Given the description of an element on the screen output the (x, y) to click on. 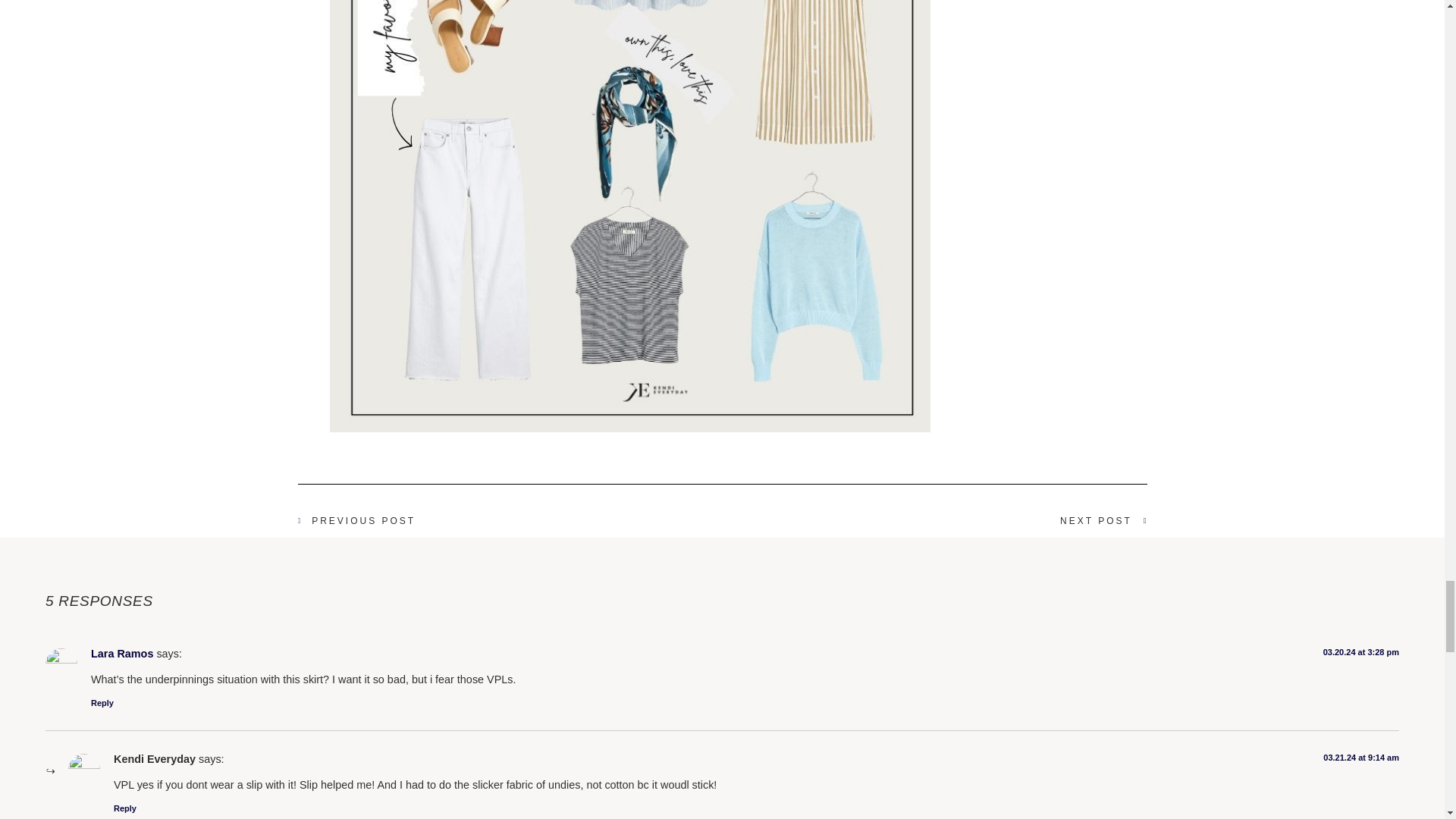
03.21.24 at 9:14 am (1361, 757)
03.20.24 at 3:28 pm (1361, 651)
Reply (124, 808)
Reply (101, 702)
Lara Ramos (121, 653)
PREVIOUS POST (509, 520)
NEXT POST (934, 520)
